Given the description of an element on the screen output the (x, y) to click on. 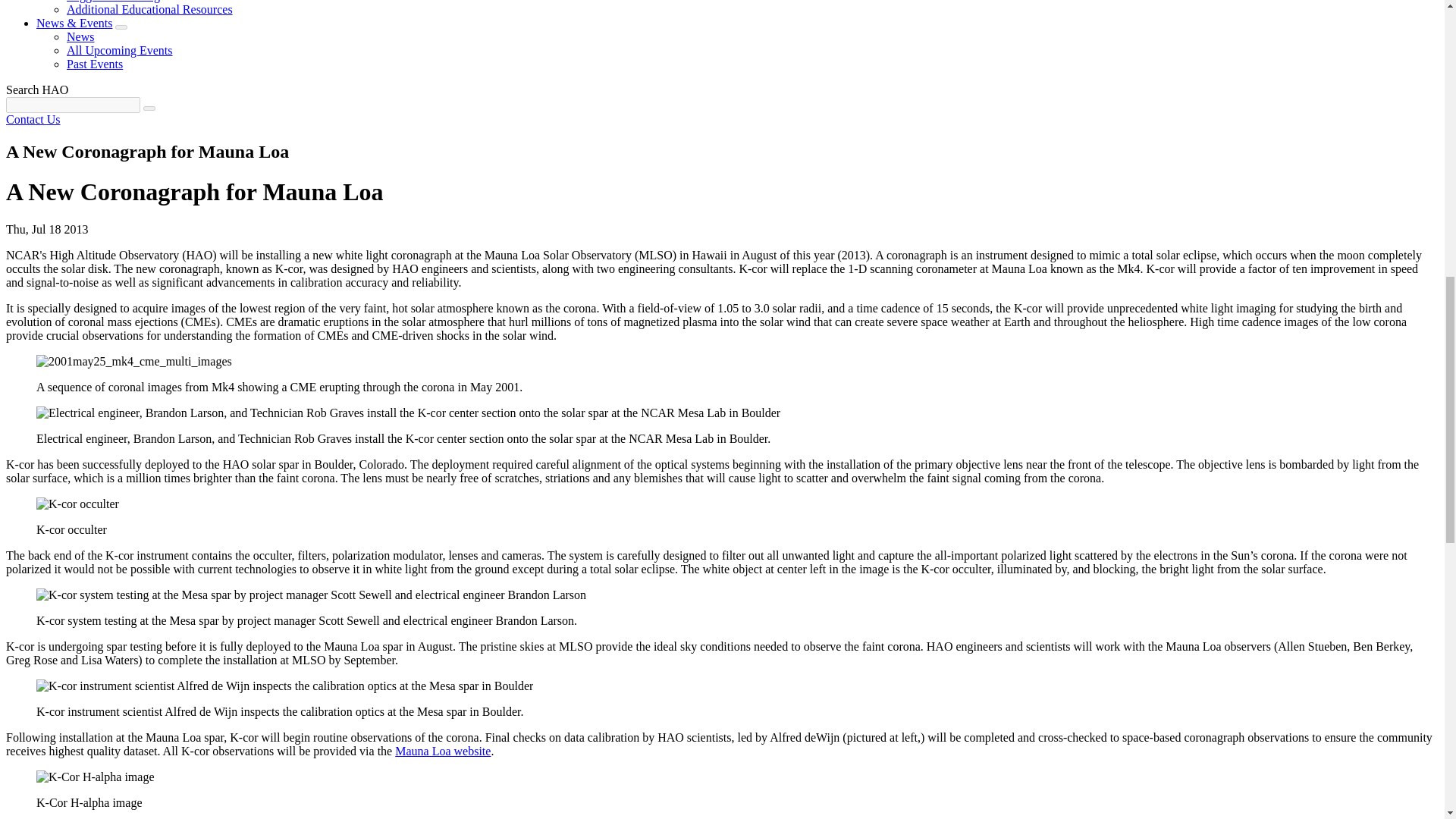
All upcoming events (119, 50)
Past events (94, 63)
HAO upcoming and past events; Archive of news stories (74, 22)
